Given the description of an element on the screen output the (x, y) to click on. 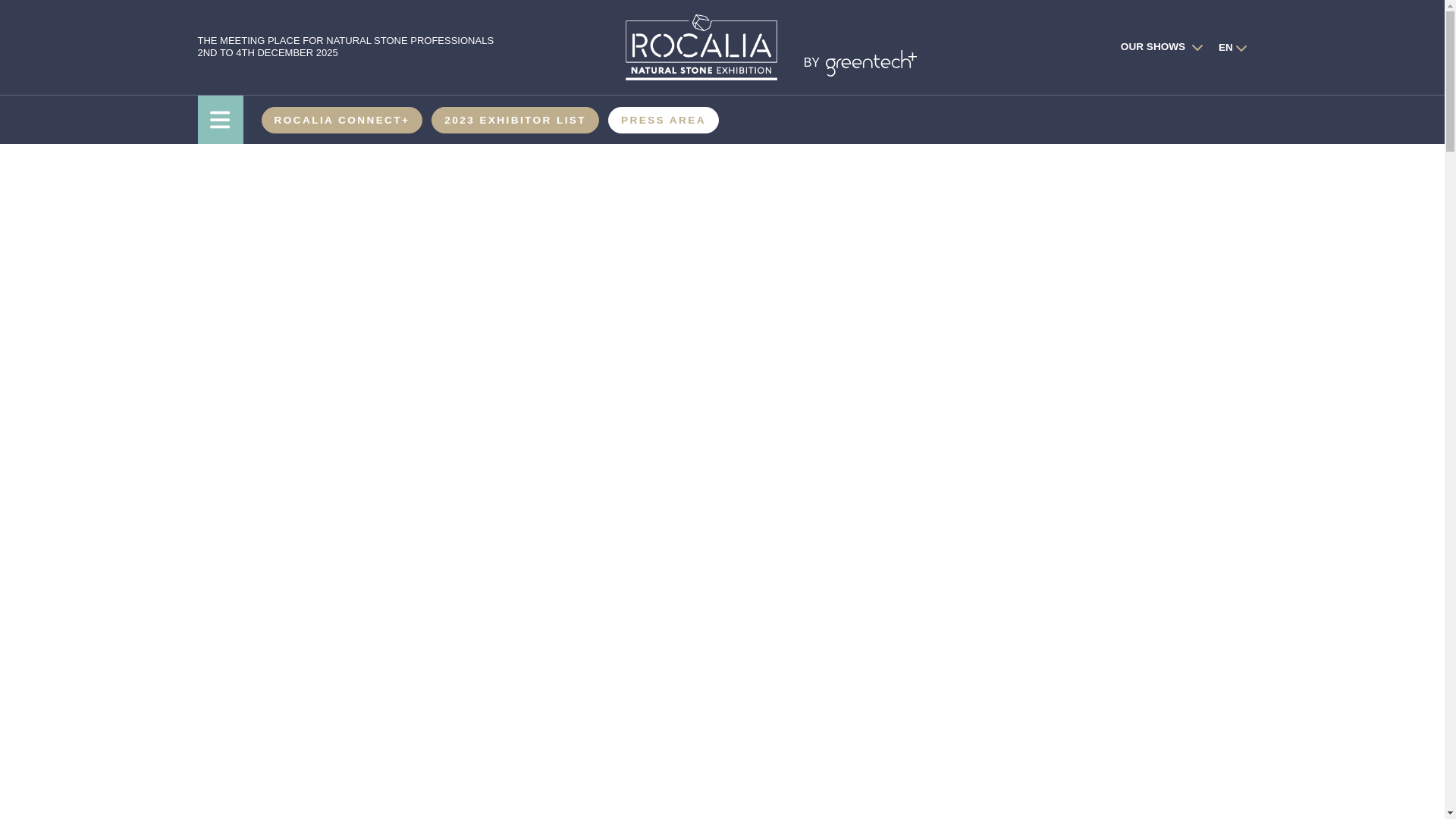
2023 EXHIBITOR LIST (515, 119)
EN (1225, 46)
Logo en (700, 47)
PRESS AREA (663, 119)
Greentech logo (871, 62)
